Given the description of an element on the screen output the (x, y) to click on. 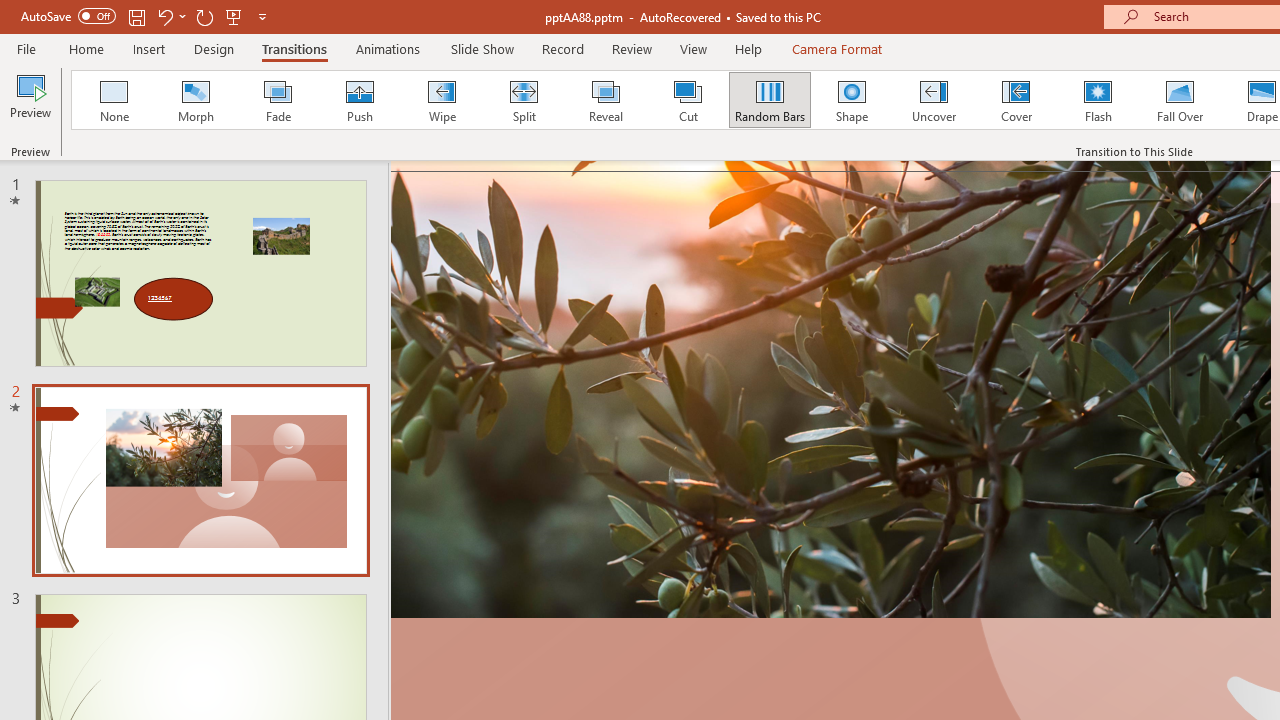
Reveal (605, 100)
Fade (277, 100)
